Given the description of an element on the screen output the (x, y) to click on. 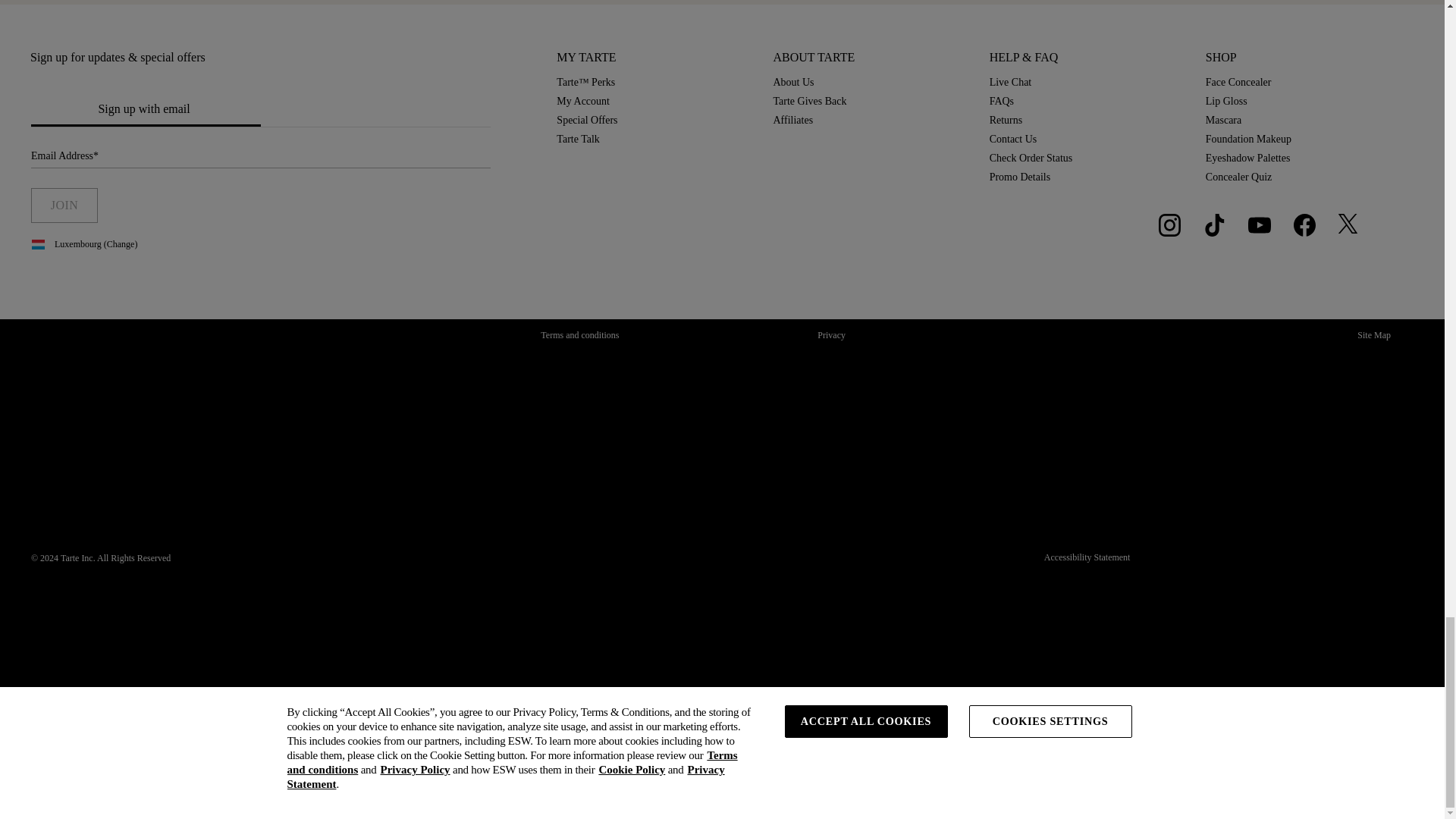
Go to Frequently Asked Questions (1006, 120)
Go to Contact Us (1013, 138)
Go to Frequently Asked Questions (1001, 101)
